Given the description of an element on the screen output the (x, y) to click on. 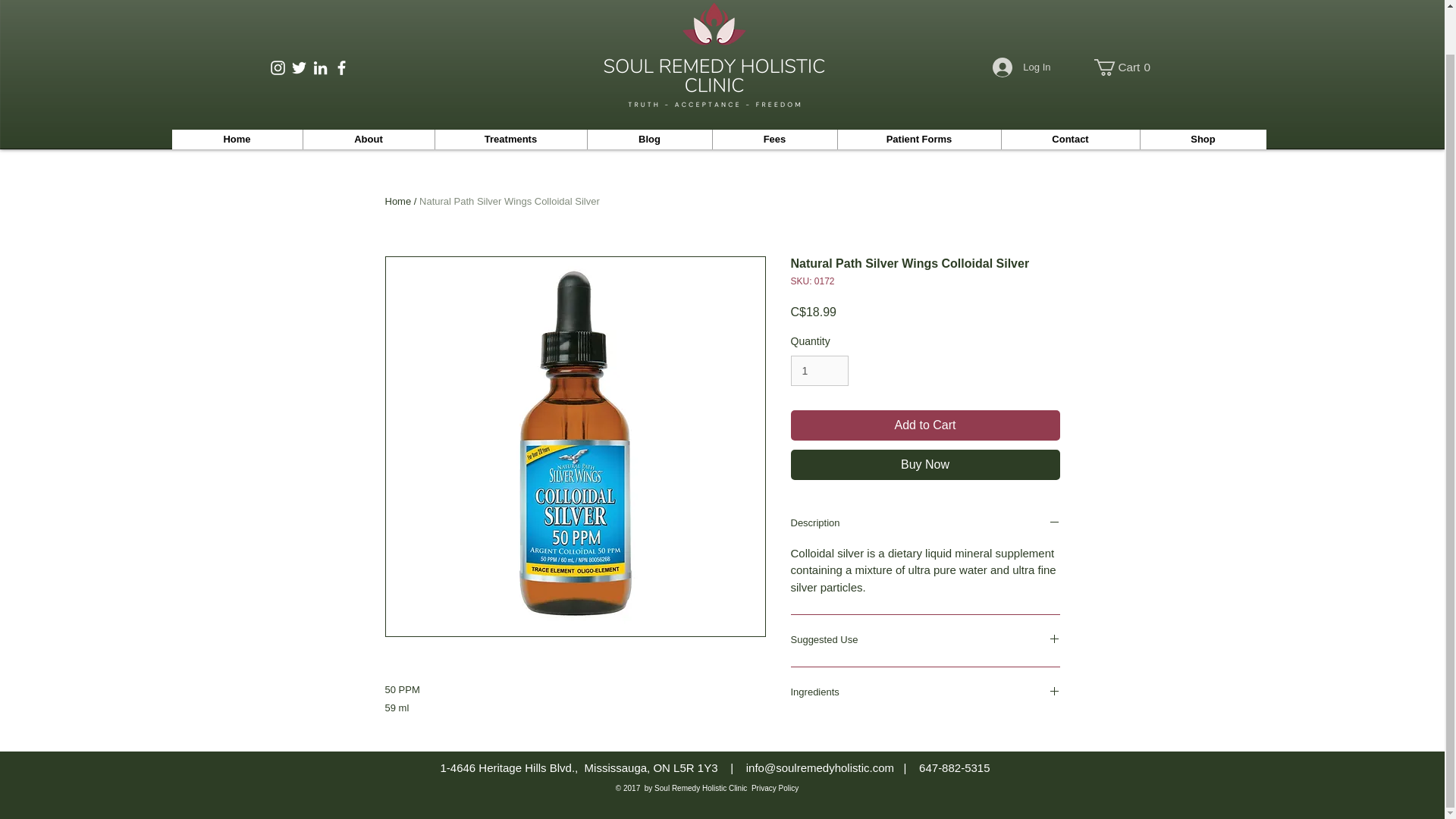
Add to Cart (924, 425)
Patient Forms (919, 139)
Blog (648, 139)
Log In (1021, 67)
Fees (773, 139)
Natural Path Silver Wings Colloidal Silver (509, 201)
Buy Now (1124, 67)
Home (924, 464)
About (236, 139)
Privacy Policy (1124, 67)
1 (367, 139)
Contact (774, 741)
Shop (818, 370)
